Given the description of an element on the screen output the (x, y) to click on. 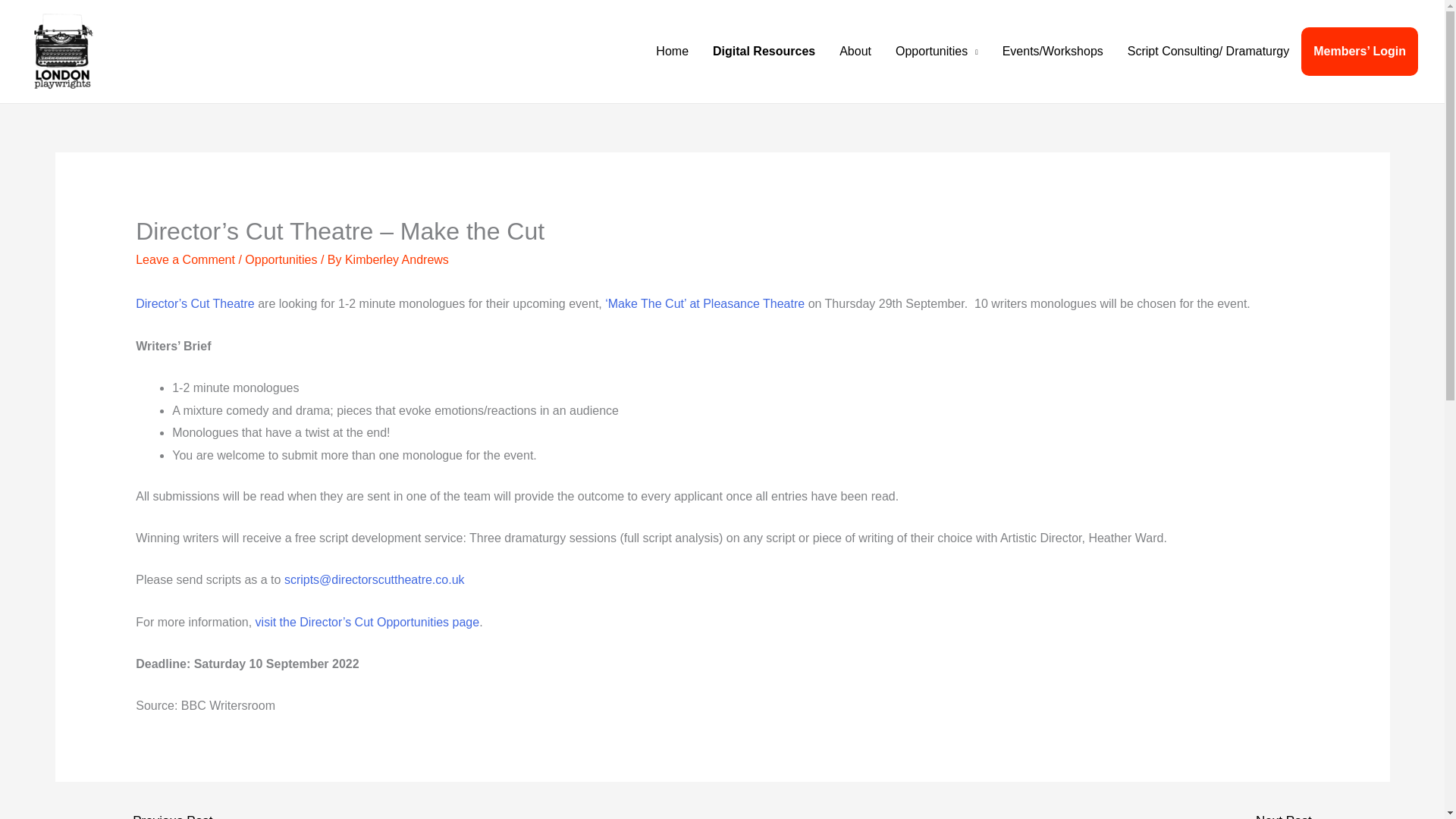
View all posts by Kimberley Andrews (396, 259)
Make the Cut at Pleasance Theatre (705, 303)
Digital Resources (763, 51)
Director's Cut Theatre homepage (194, 303)
Opportunities (280, 259)
Opportunities (936, 51)
About (855, 51)
Leave a Comment (184, 259)
Make the Cut Submissions (373, 579)
Kimberley Andrews (396, 259)
Home (671, 51)
Director's Cut Opportunities Page (368, 621)
